Given the description of an element on the screen output the (x, y) to click on. 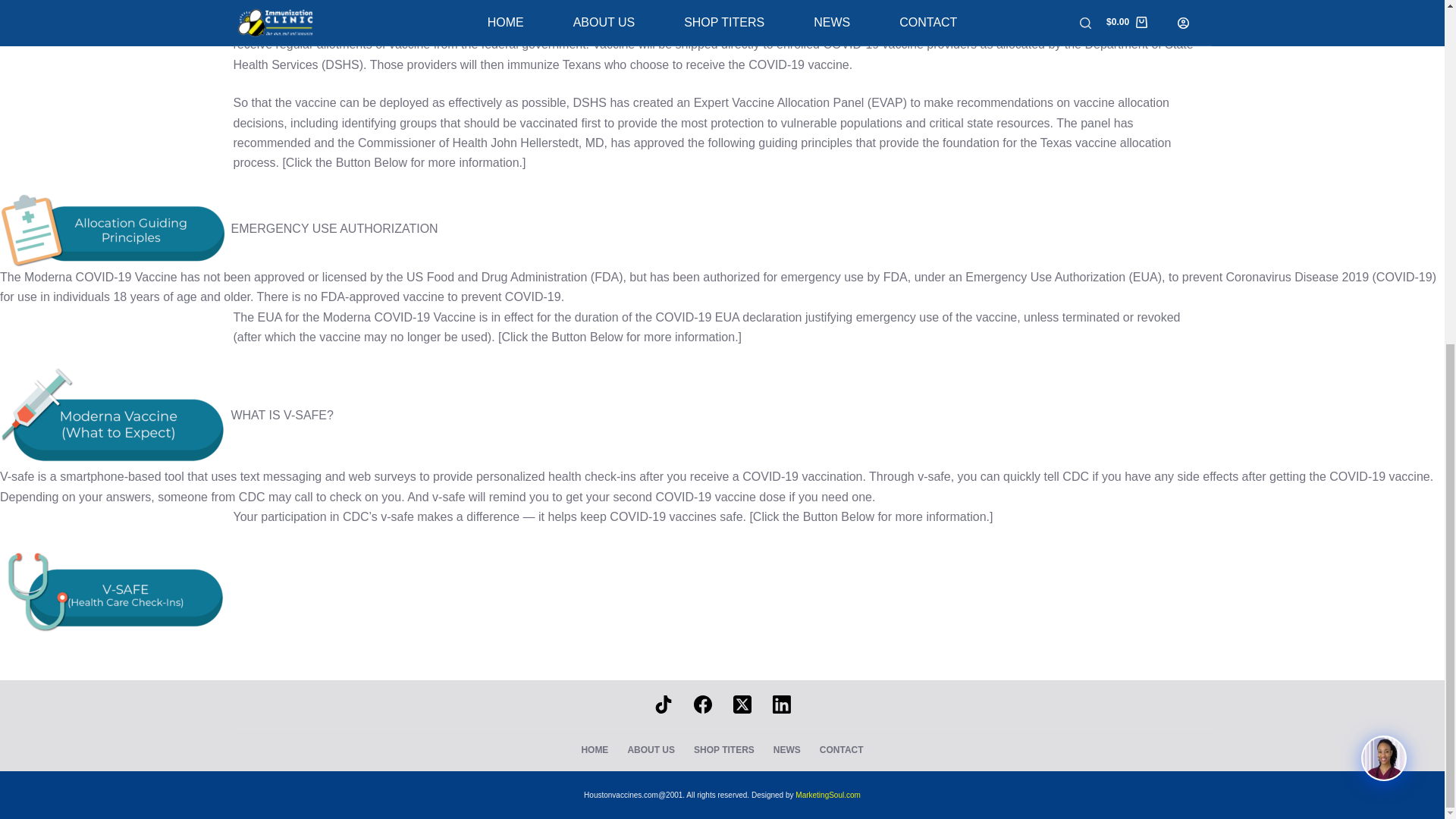
HV Button-AGP (113, 229)
SHOP TITERS (724, 749)
HOME (594, 749)
ABOUT US (650, 749)
HV Button-V-SAFE (113, 589)
HV Button-moderna Expectations (113, 415)
